Given the description of an element on the screen output the (x, y) to click on. 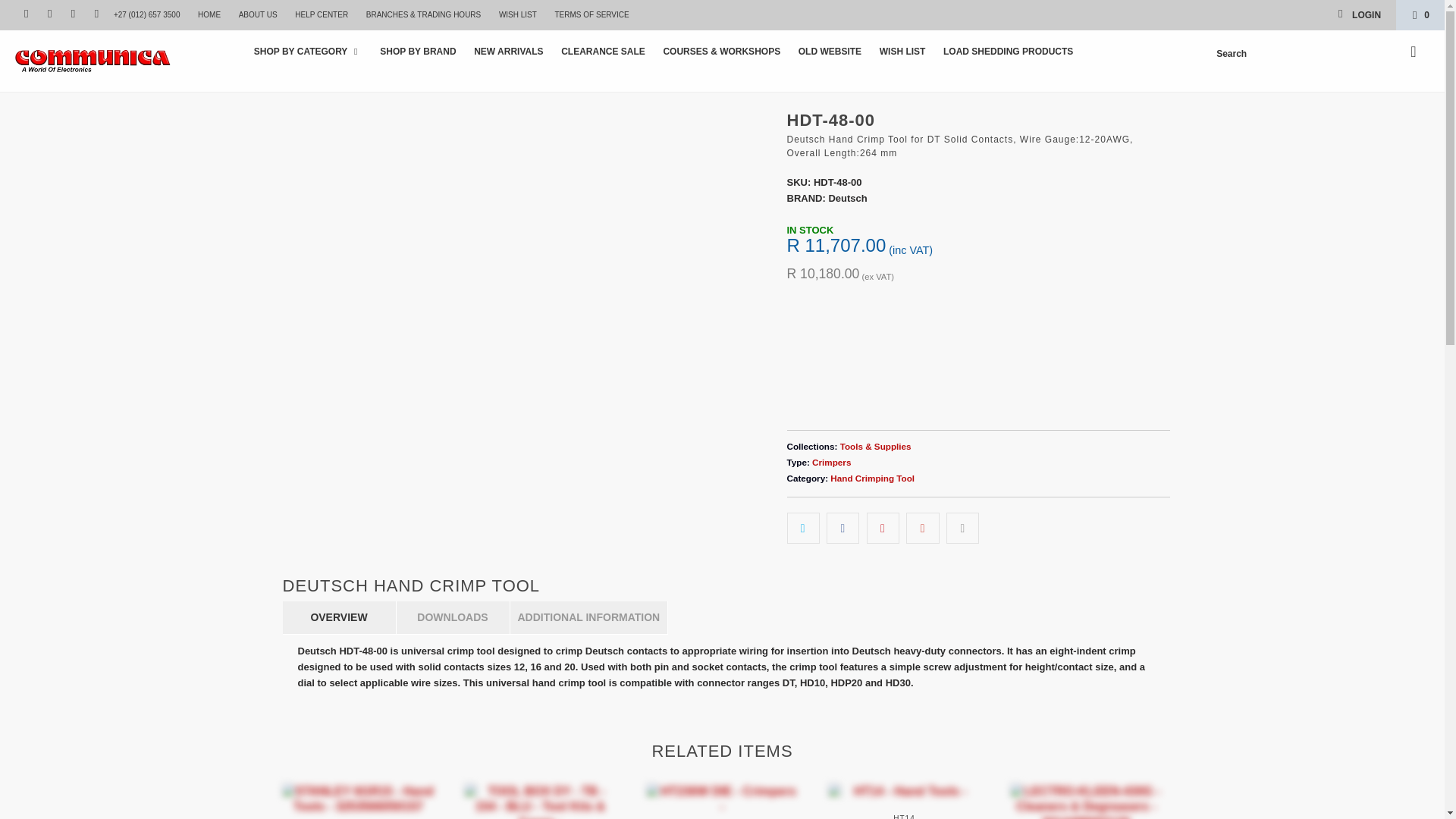
Share this on Facebook (843, 527)
Share this on Twitter (803, 527)
Communica South Africa on Facebook (48, 14)
Email this to a friend (962, 527)
My Account  (1358, 15)
Share this on Pinterest (882, 527)
Communica South Africa (122, 60)
Products tagged Hand Crimping Tool (871, 478)
Communica South Africa on Instagram (71, 14)
Communica South Africa on LinkedIn (94, 14)
